Given the description of an element on the screen output the (x, y) to click on. 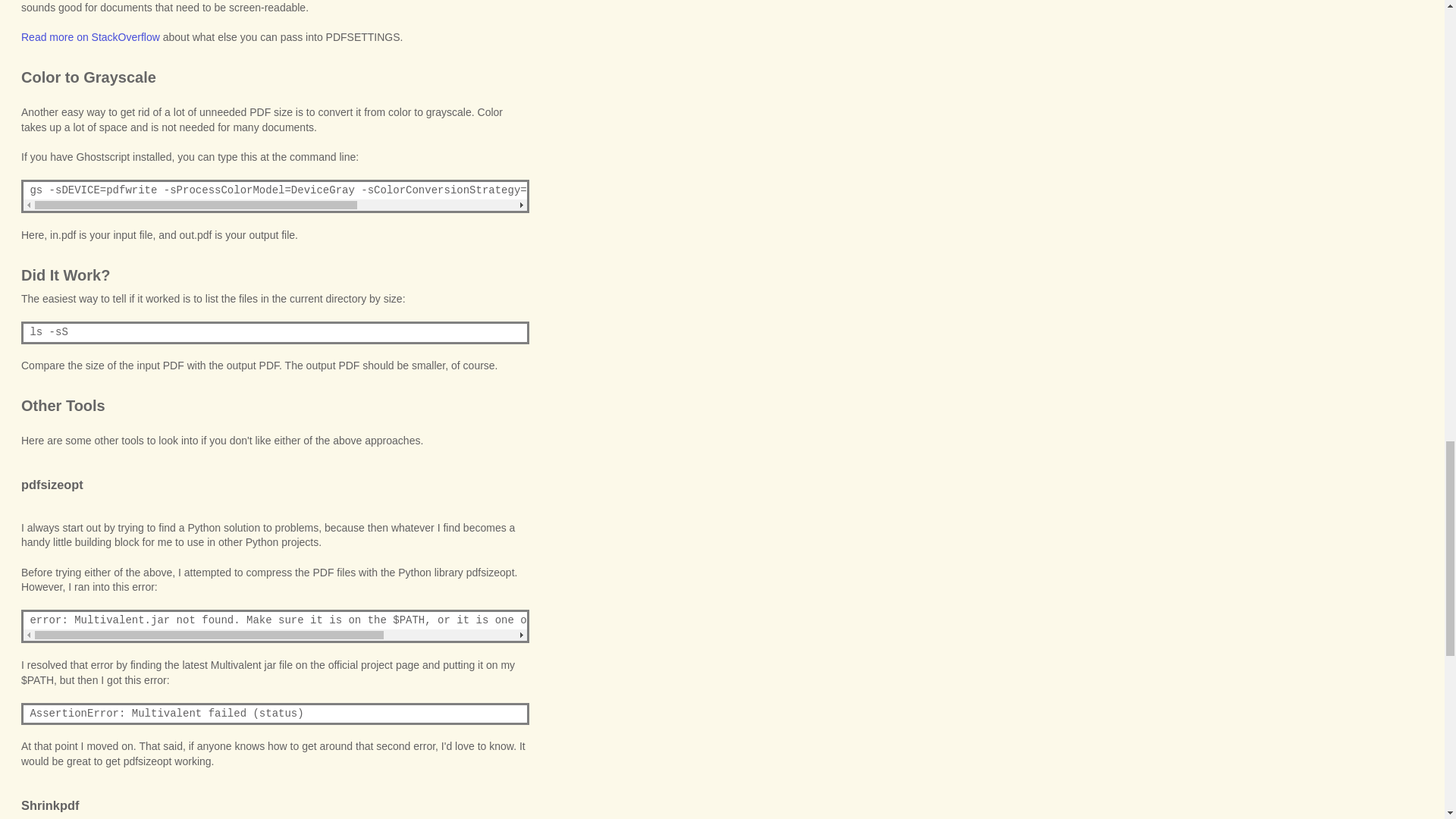
Read more on StackOverflow (90, 37)
